Given the description of an element on the screen output the (x, y) to click on. 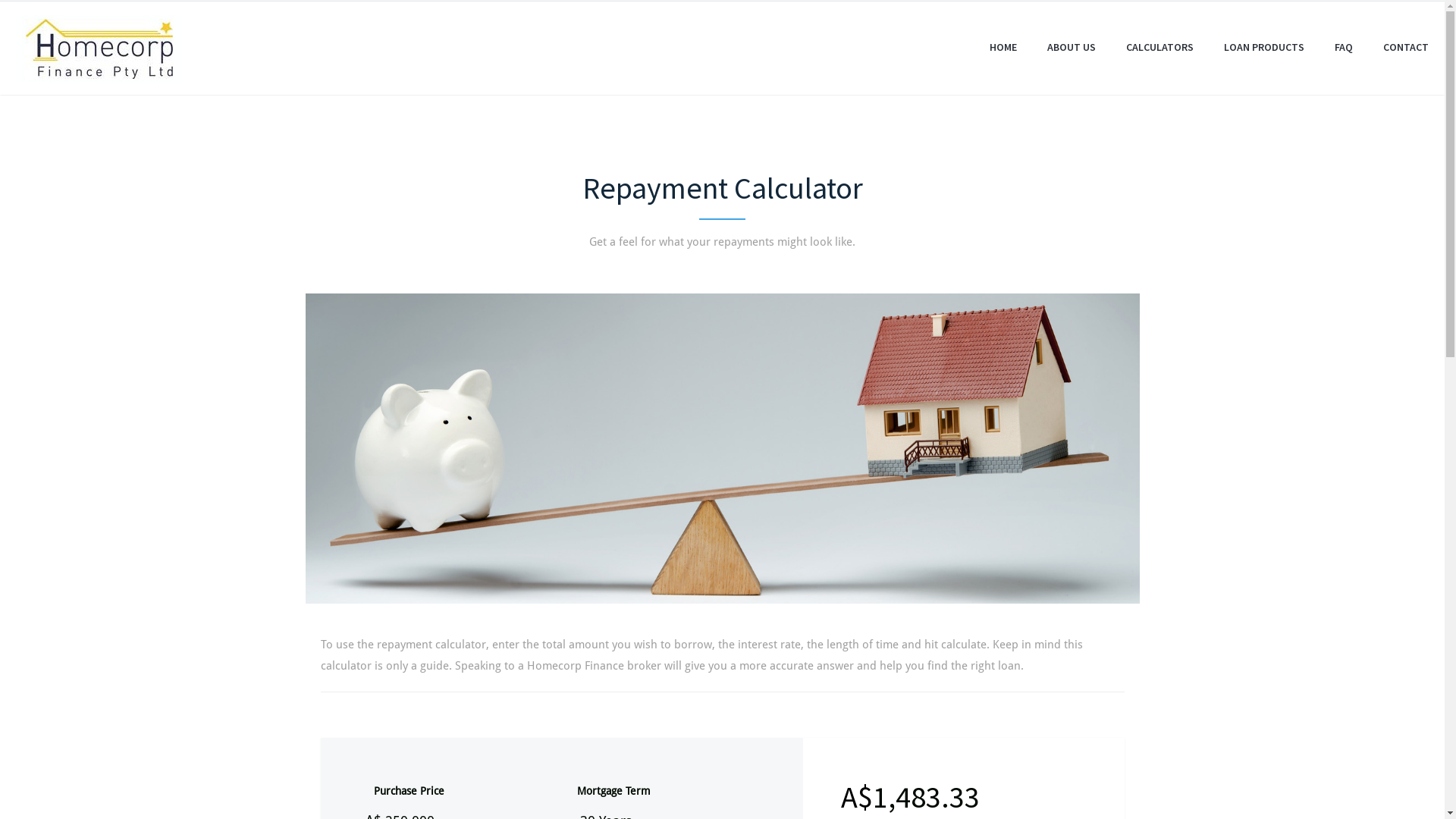
ABOUT US Element type: text (1071, 46)
FAQ Element type: text (1343, 46)
Homecorp Finance Calculator Element type: hover (721, 448)
Homecorp Element type: hover (98, 48)
CONTACT Element type: text (1405, 46)
HOME Element type: text (1003, 46)
CALCULATORS Element type: text (1159, 46)
LOAN PRODUCTS Element type: text (1263, 46)
